Given the description of an element on the screen output the (x, y) to click on. 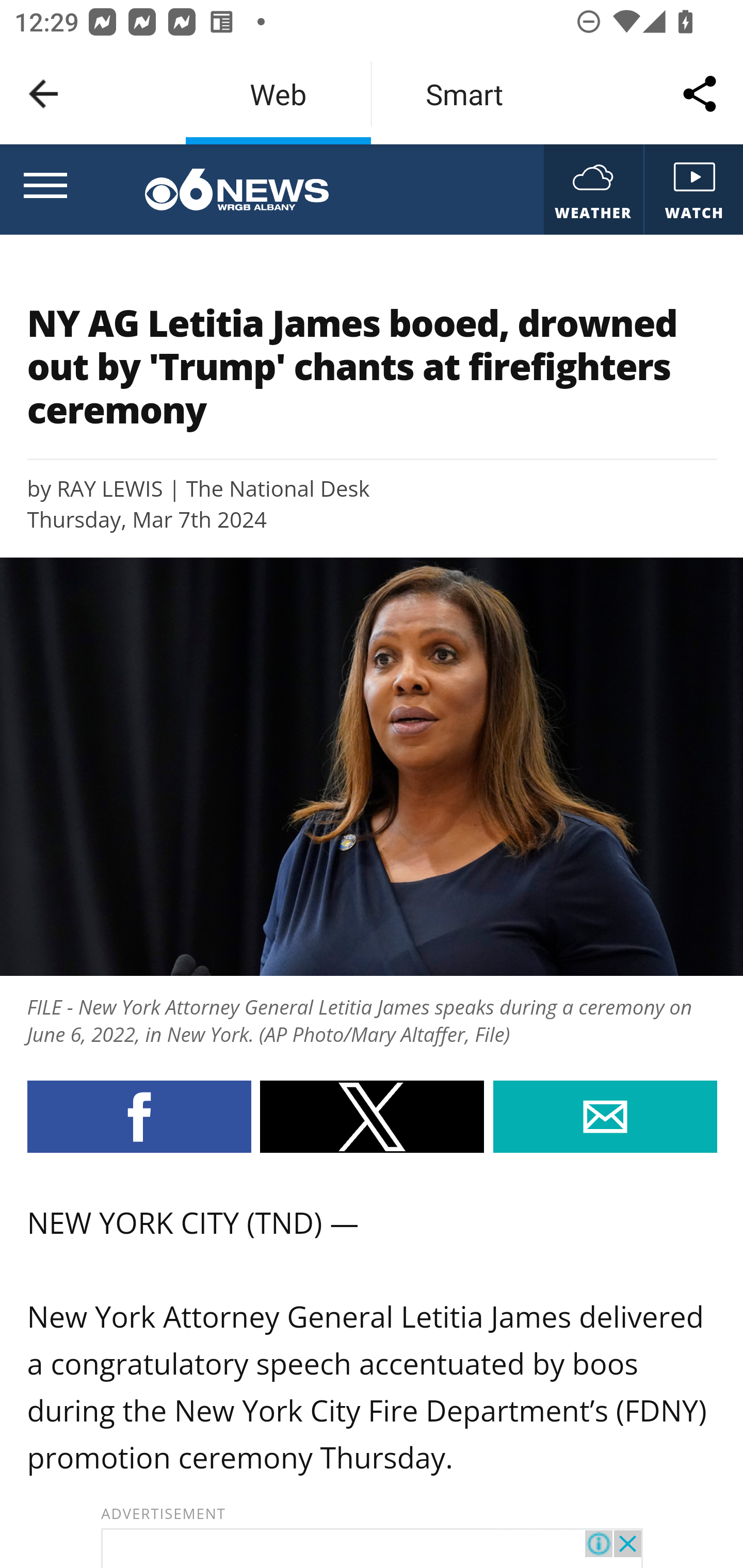
Web (277, 93)
Smart (464, 93)
cbs6albany wrgb-logo (236, 190)
WEATHER sbg-amp-weather WEATHER (592, 190)
WATCH sbg-video1 WATCH (692, 190)
Share by facebook (138, 1116)
Share by twitter (371, 1116)
Share by email (604, 1116)
